Given the description of an element on the screen output the (x, y) to click on. 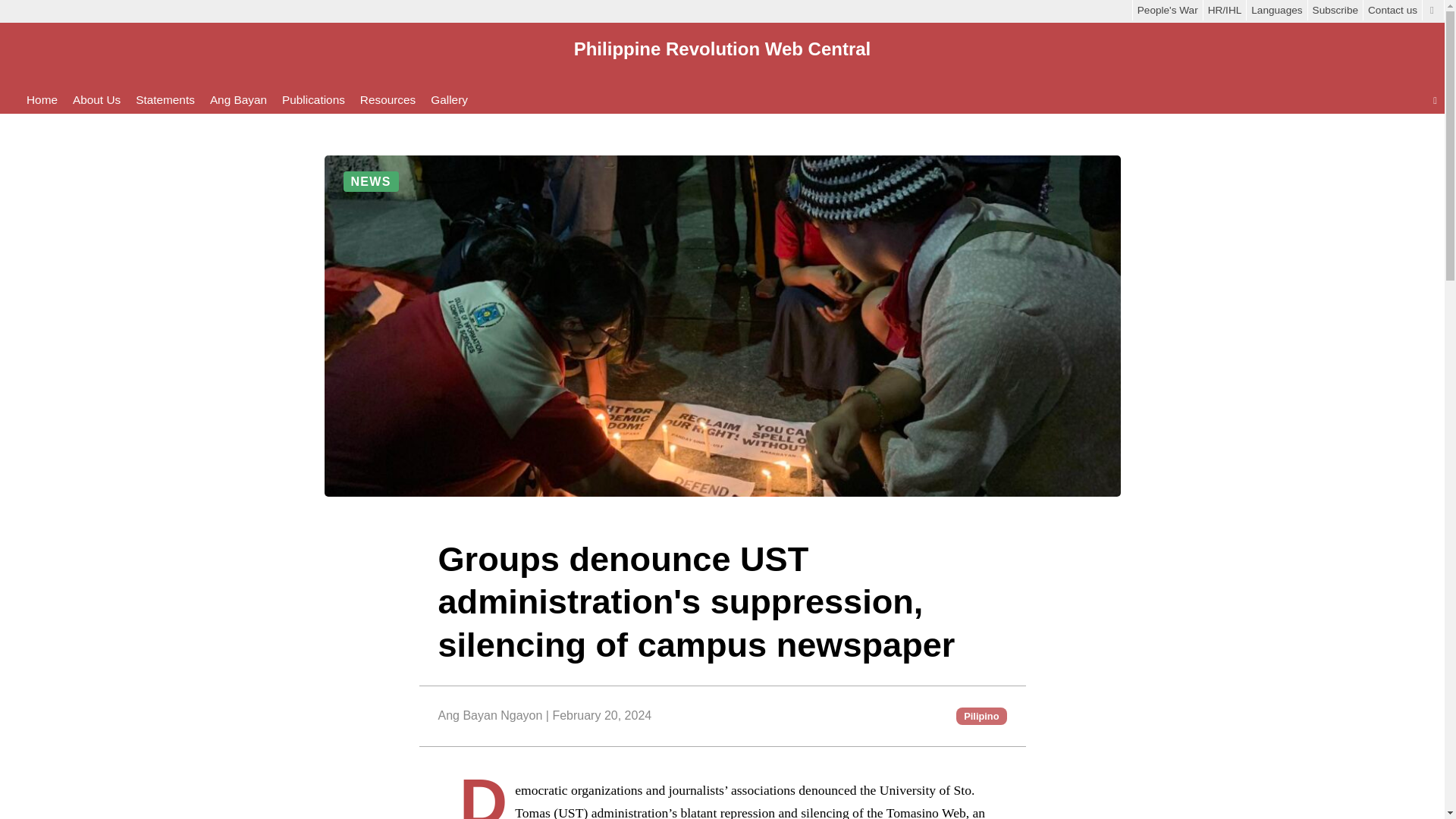
About Us (96, 99)
Ang Bayan (237, 99)
Gallery (448, 99)
Subscribe (1334, 9)
Home (42, 99)
Contact us (1392, 9)
Statements (165, 99)
People's War (1167, 9)
Languages (1276, 9)
